Given the description of an element on the screen output the (x, y) to click on. 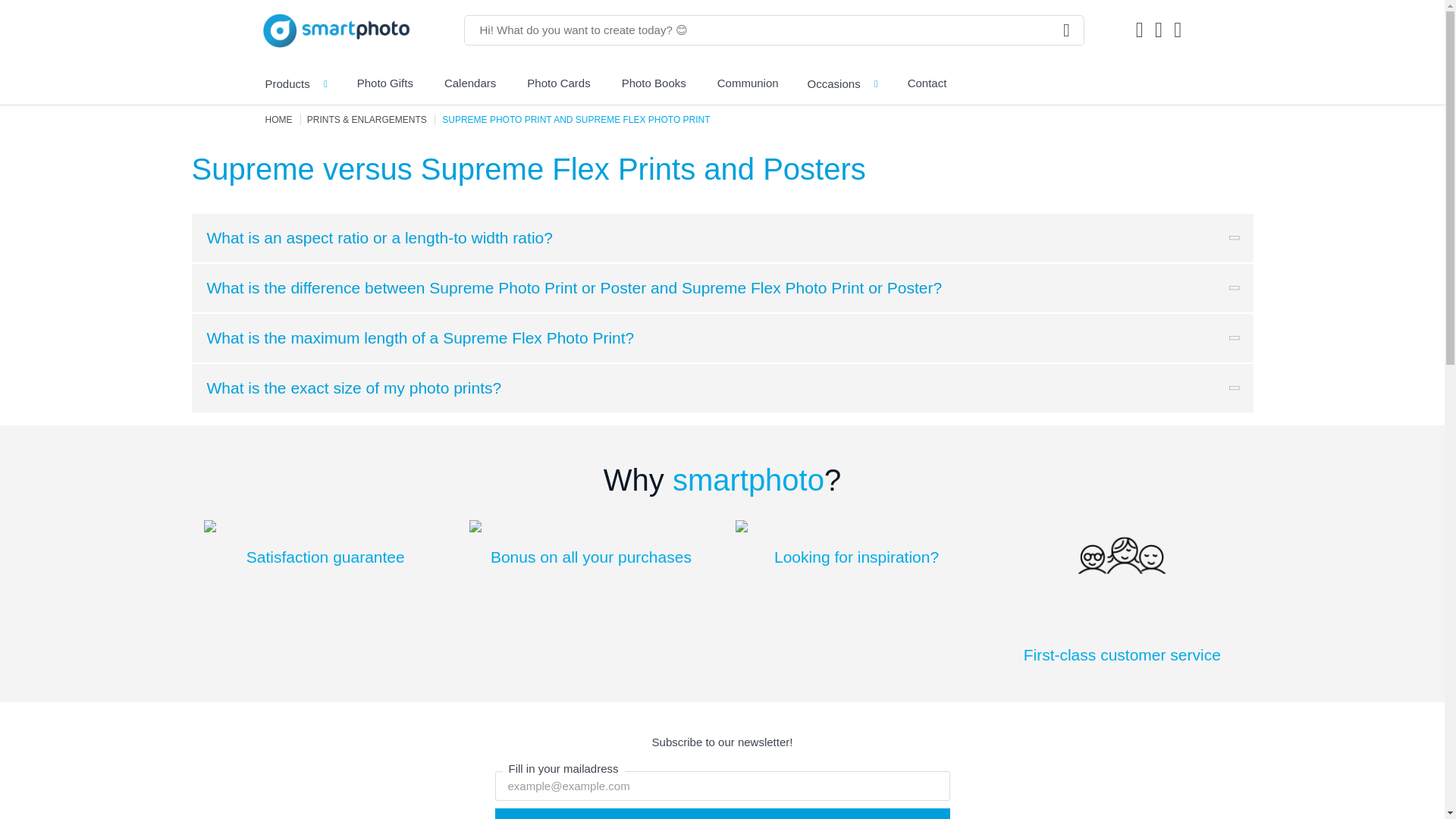
First-class customer service (1122, 592)
Communion (747, 83)
Calendars (469, 83)
Bonus on all your purchases (589, 543)
Looking for inspiration? (856, 543)
First-class customer service (1122, 592)
Photo Gifts (384, 83)
Subscribe (722, 813)
Home (279, 119)
Satisfaction guarantee (324, 543)
HOME (279, 119)
Contact (926, 83)
Photo Cards (558, 83)
Looking for inspiration? (856, 543)
Satisfaction guarantee (324, 543)
